Given the description of an element on the screen output the (x, y) to click on. 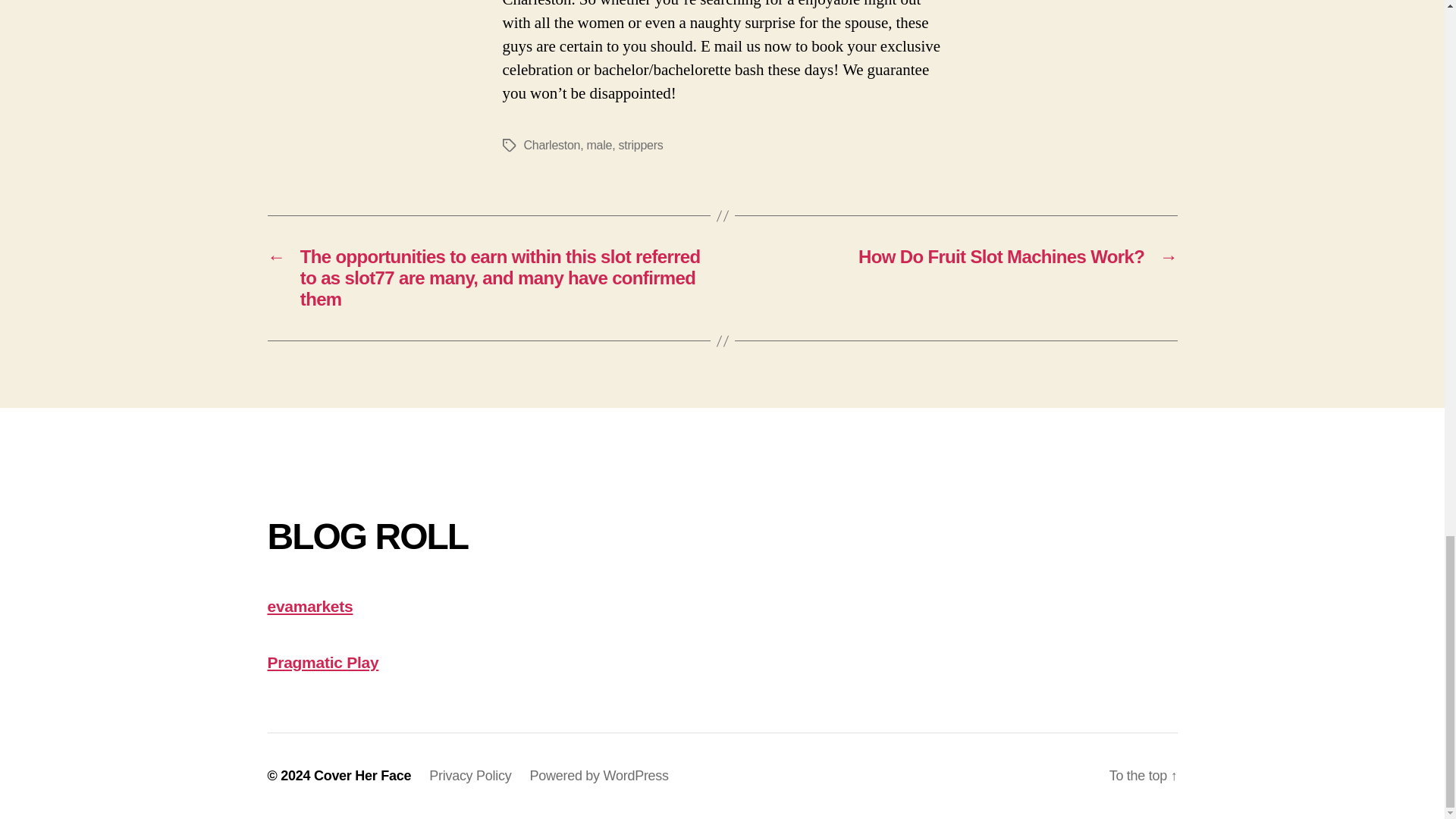
male (599, 144)
strippers (640, 144)
Privacy Policy (470, 775)
Pragmatic Play (322, 661)
evamarkets (309, 606)
Charleston (550, 144)
Cover Her Face (362, 775)
Powered by WordPress (598, 775)
